Given the description of an element on the screen output the (x, y) to click on. 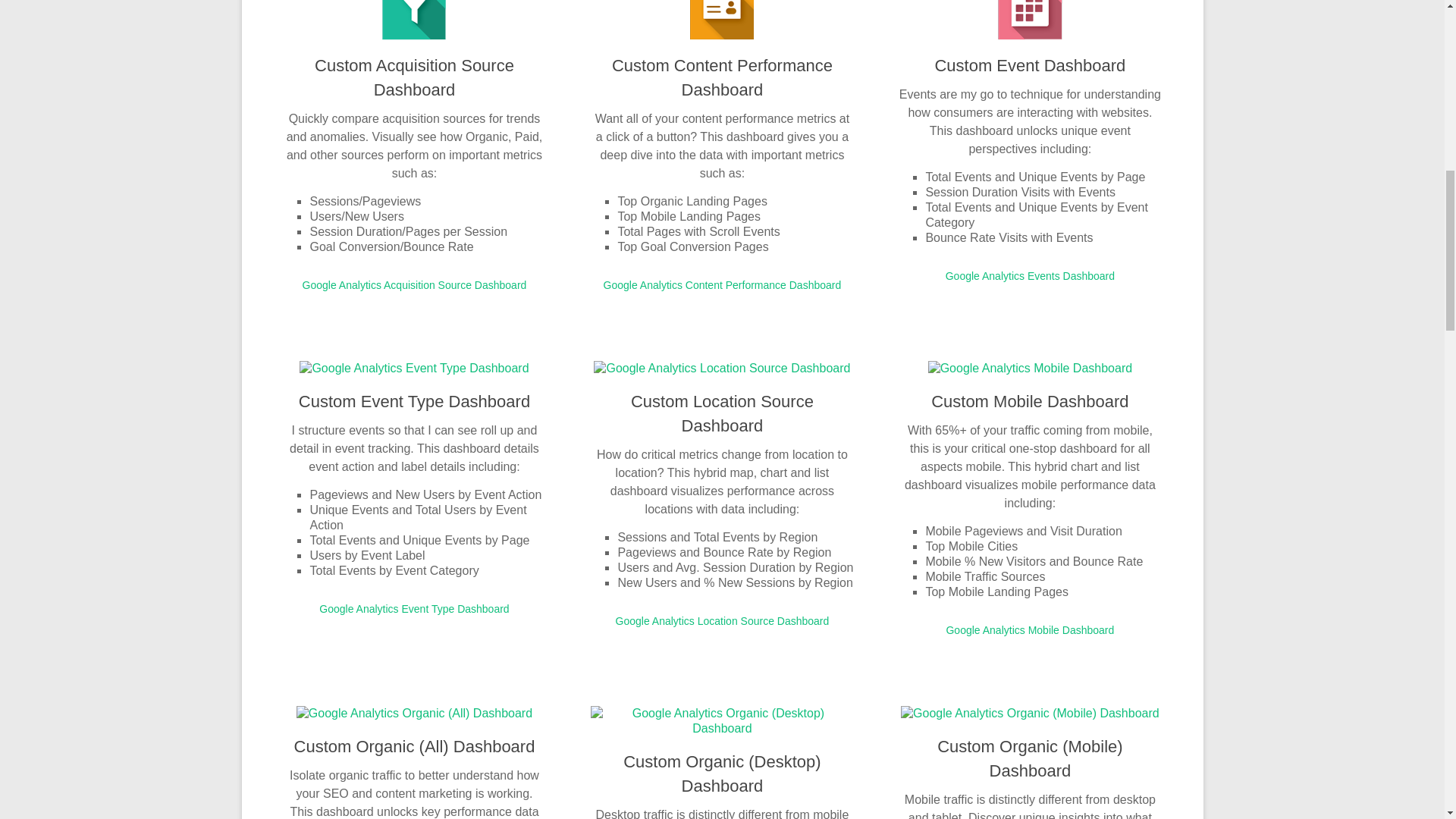
Google Analytics Content Performance Dashboard (722, 285)
Google Analytics Event Type Dashboard (413, 608)
Google Analytics Events Dashboard (1029, 275)
Custom Mobile Dashboard (1029, 401)
Custom Content Performance Dashboard (721, 77)
Google Analytics Event Type Dashboard (413, 608)
Google Analytics Event Type Dashboard (413, 367)
Google Analytics Mobile Dashboard (1028, 630)
Google Analytics Events Dashboard (1029, 275)
Custom Content Performance Dashboard (721, 77)
Custom Event Dashboard (1029, 65)
Custom Location Source Dashboard (721, 413)
Google Analytics Location Source Dashboard (722, 367)
Custom Location Source Dashboard (721, 413)
Custom Acquisition Source Dashboard (413, 77)
